Given the description of an element on the screen output the (x, y) to click on. 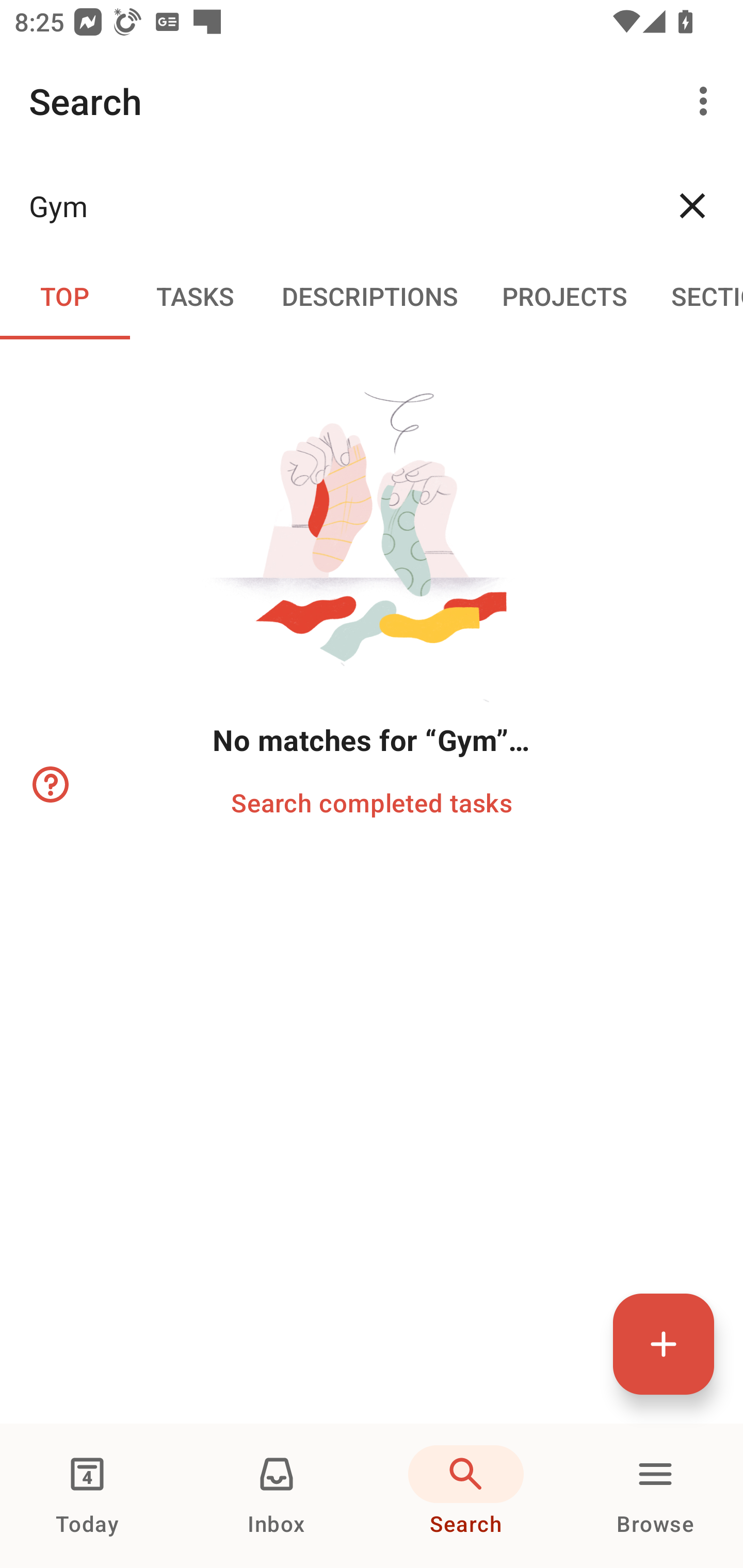
Search More options (371, 100)
More options (706, 101)
Gym (335, 205)
Clear (692, 205)
Tasks TASKS (195, 295)
Descriptions DESCRIPTIONS (370, 295)
Projects PROJECTS (564, 295)
Learn how to refine your search (48, 784)
Search completed tasks (371, 801)
Quick add (663, 1343)
Today (87, 1495)
Inbox (276, 1495)
Browse (655, 1495)
